Given the description of an element on the screen output the (x, y) to click on. 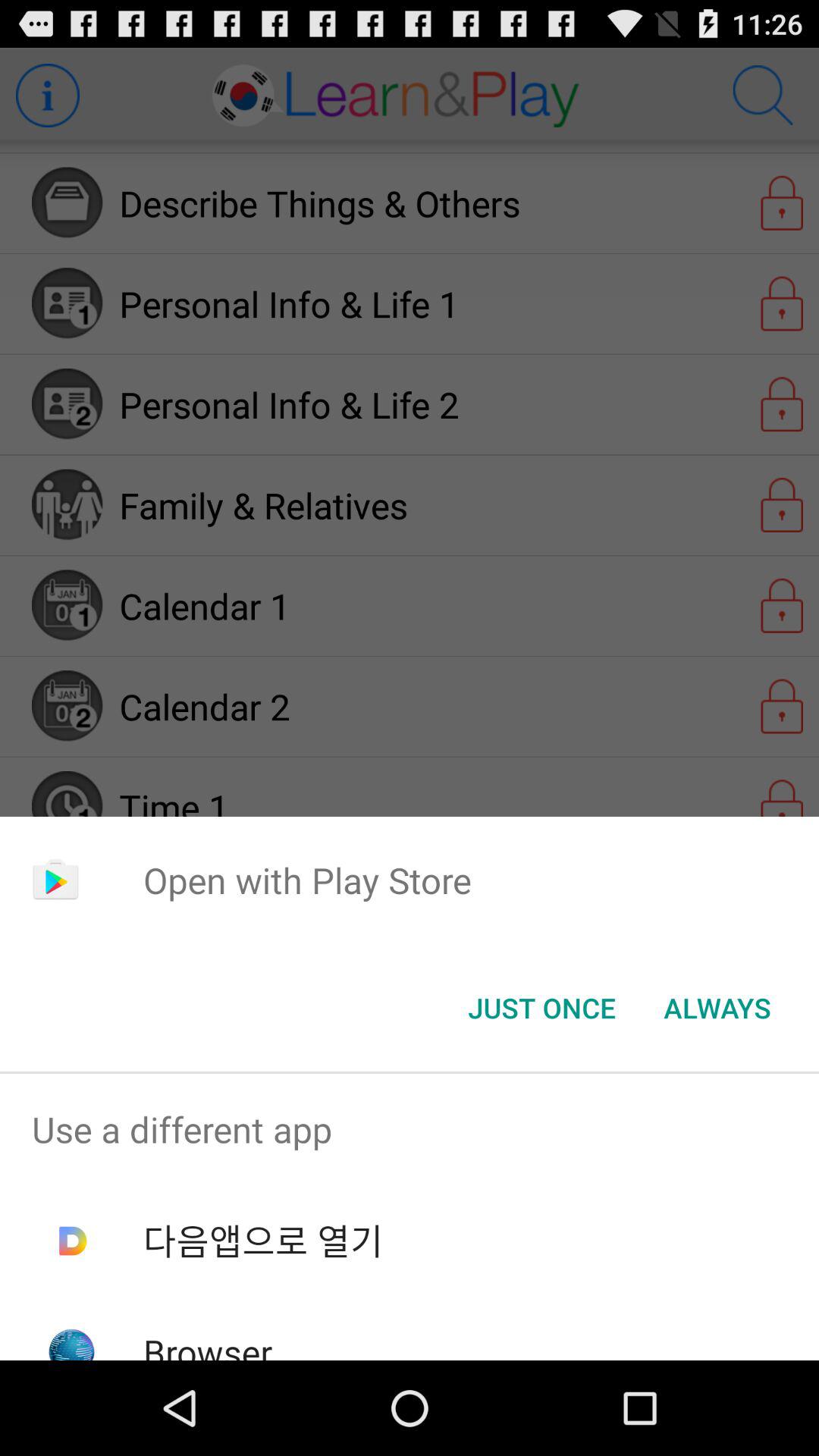
swipe until use a different icon (409, 1129)
